Given the description of an element on the screen output the (x, y) to click on. 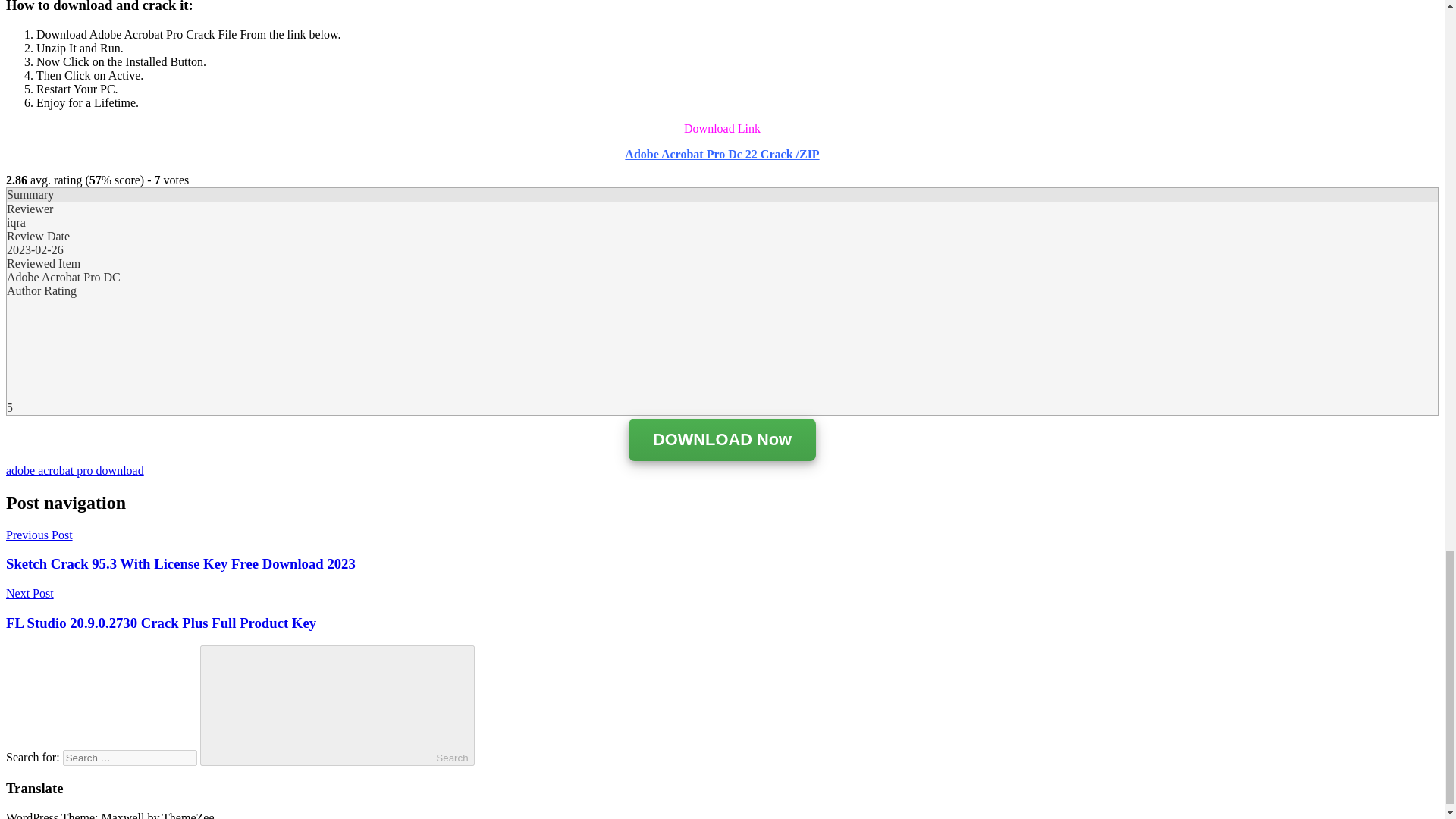
Search (337, 705)
adobe acrobat pro download (74, 470)
Search for: (129, 757)
DOWNLOAD Now (721, 439)
DOWNLOAD Now (721, 440)
